Given the description of an element on the screen output the (x, y) to click on. 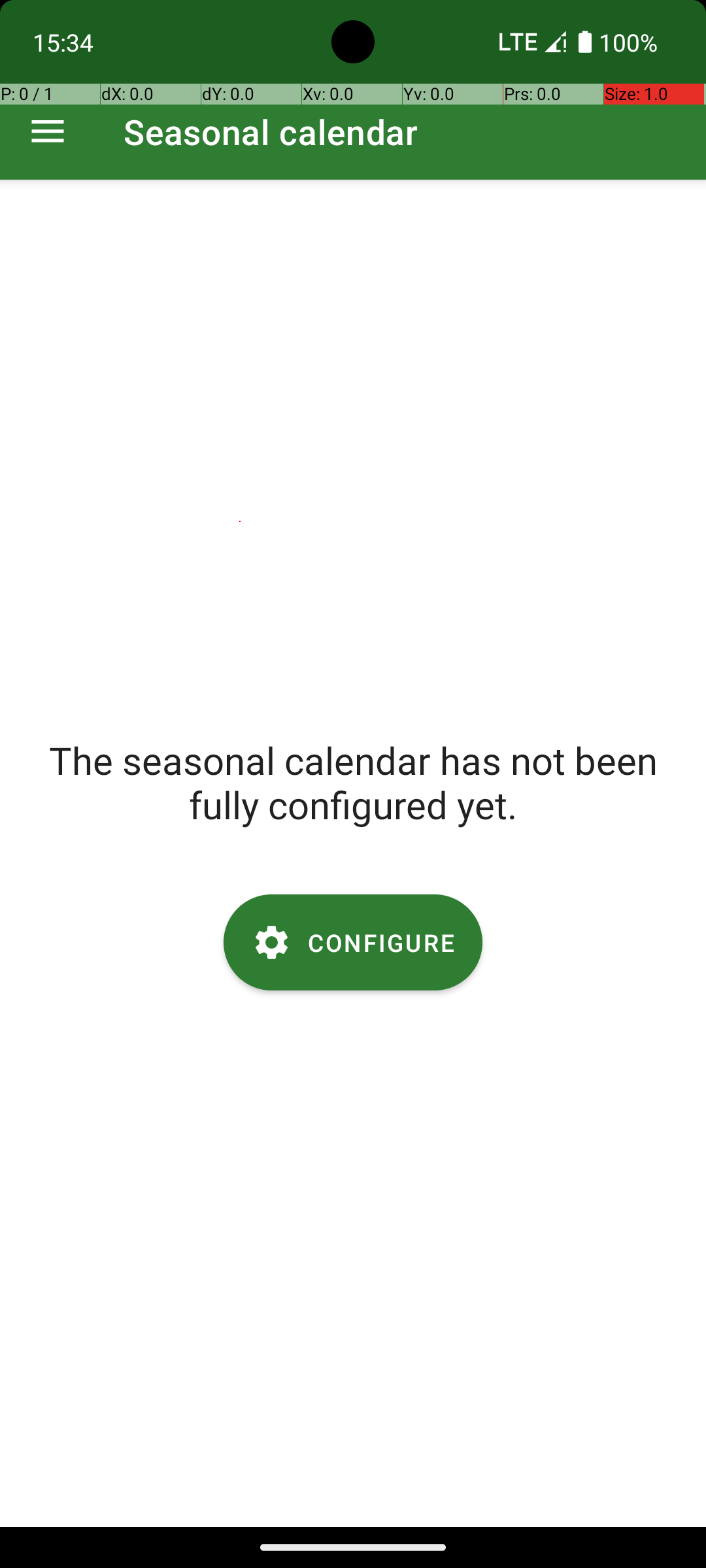
The seasonal calendar has not been fully configured yet. Element type: android.widget.TextView (353, 781)
CONFIGURE Element type: android.widget.Button (352, 942)
